Given the description of an element on the screen output the (x, y) to click on. 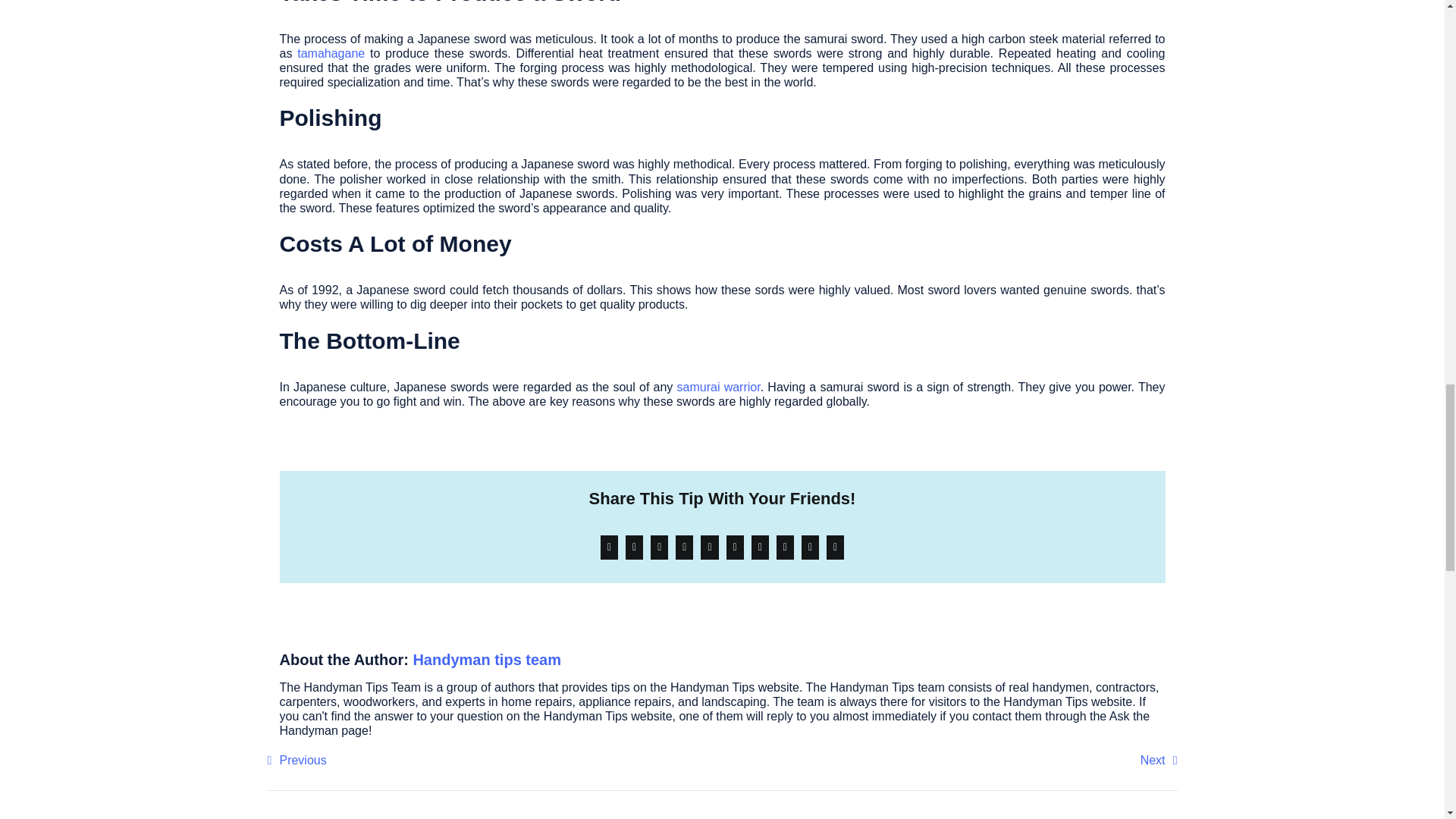
Previous (296, 760)
Handyman tips team (486, 659)
Next (1158, 760)
amahagan (329, 52)
samurai warrior (718, 386)
